Given the description of an element on the screen output the (x, y) to click on. 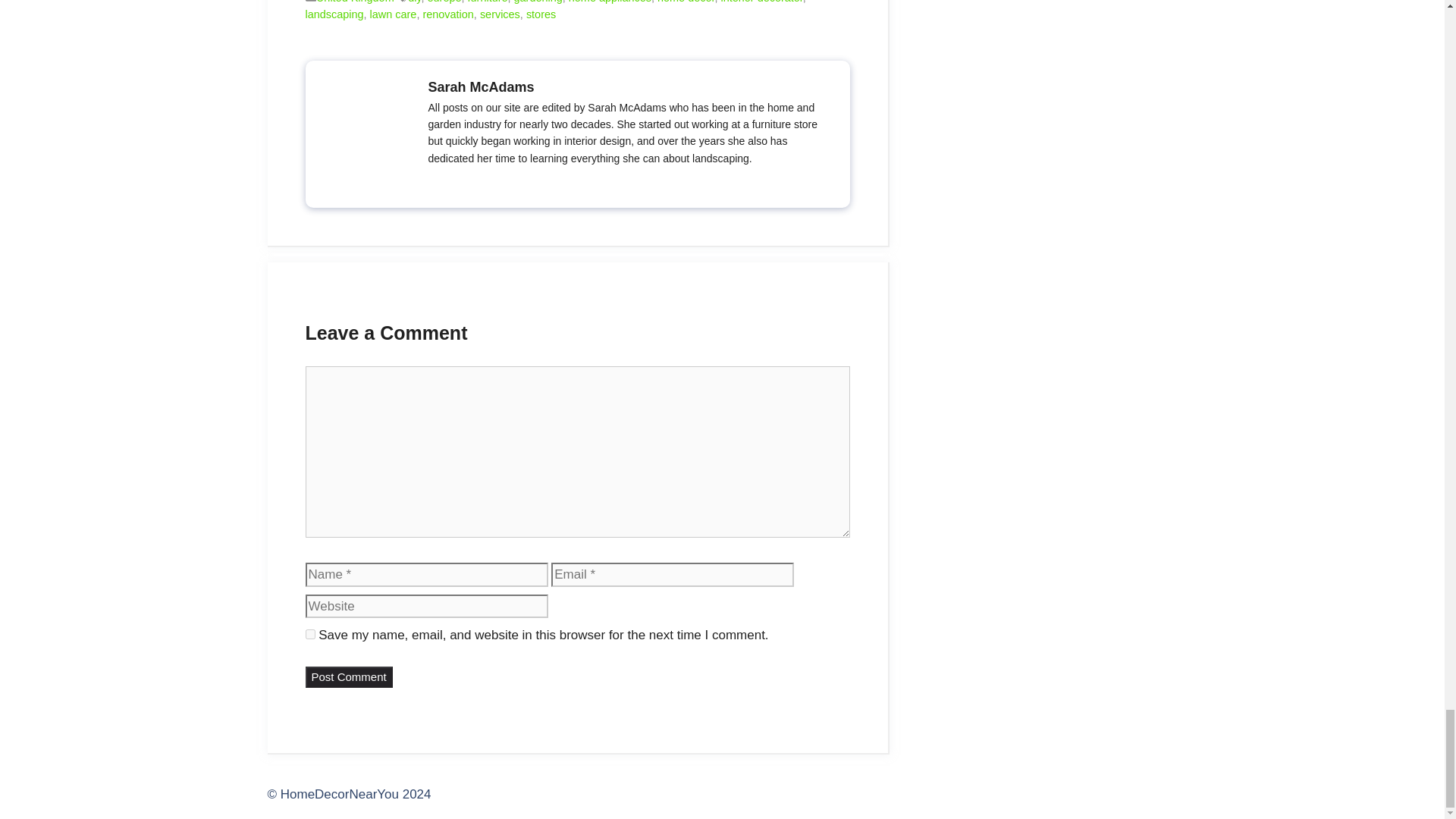
yes (309, 634)
Post Comment (347, 677)
